Given the description of an element on the screen output the (x, y) to click on. 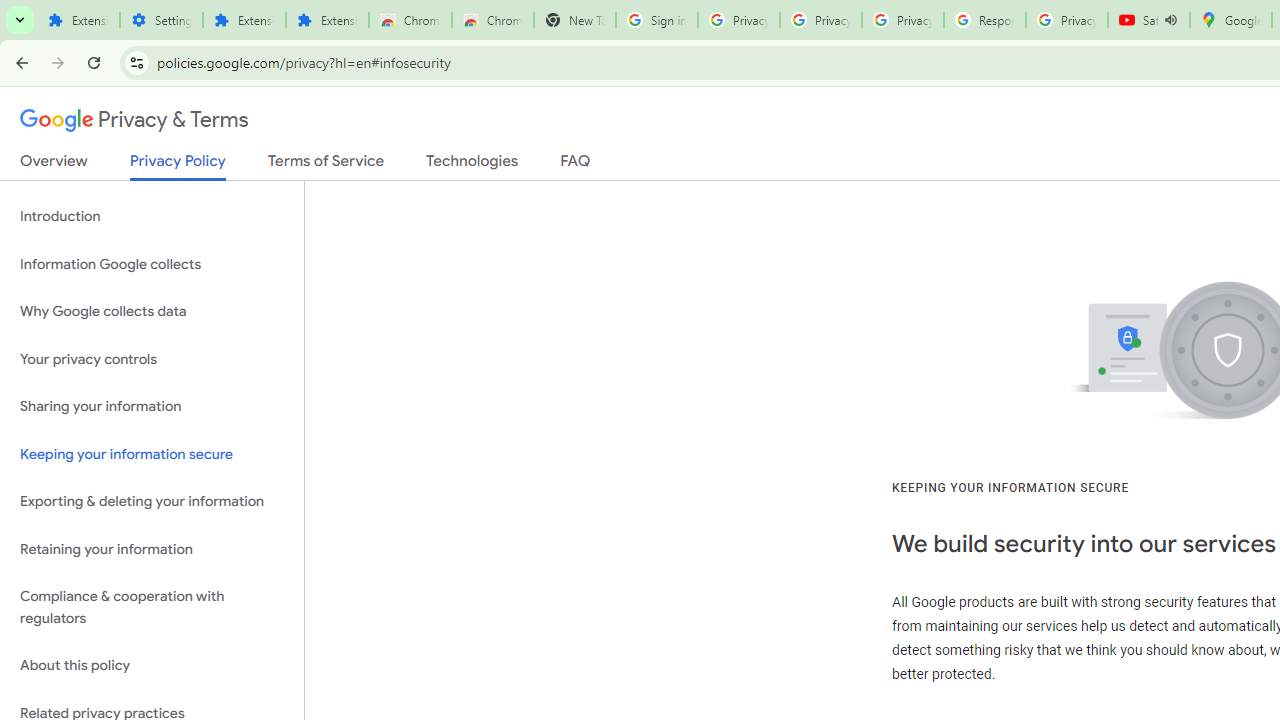
Chrome Web Store (409, 20)
Chrome Web Store - Themes (492, 20)
Sign in - Google Accounts (656, 20)
Retaining your information (152, 548)
About this policy (152, 666)
Reload (93, 62)
Privacy & Terms (134, 120)
Mute tab (1170, 20)
Extensions (78, 20)
Information Google collects (152, 263)
Technologies (472, 165)
Why Google collects data (152, 312)
